Given the description of an element on the screen output the (x, y) to click on. 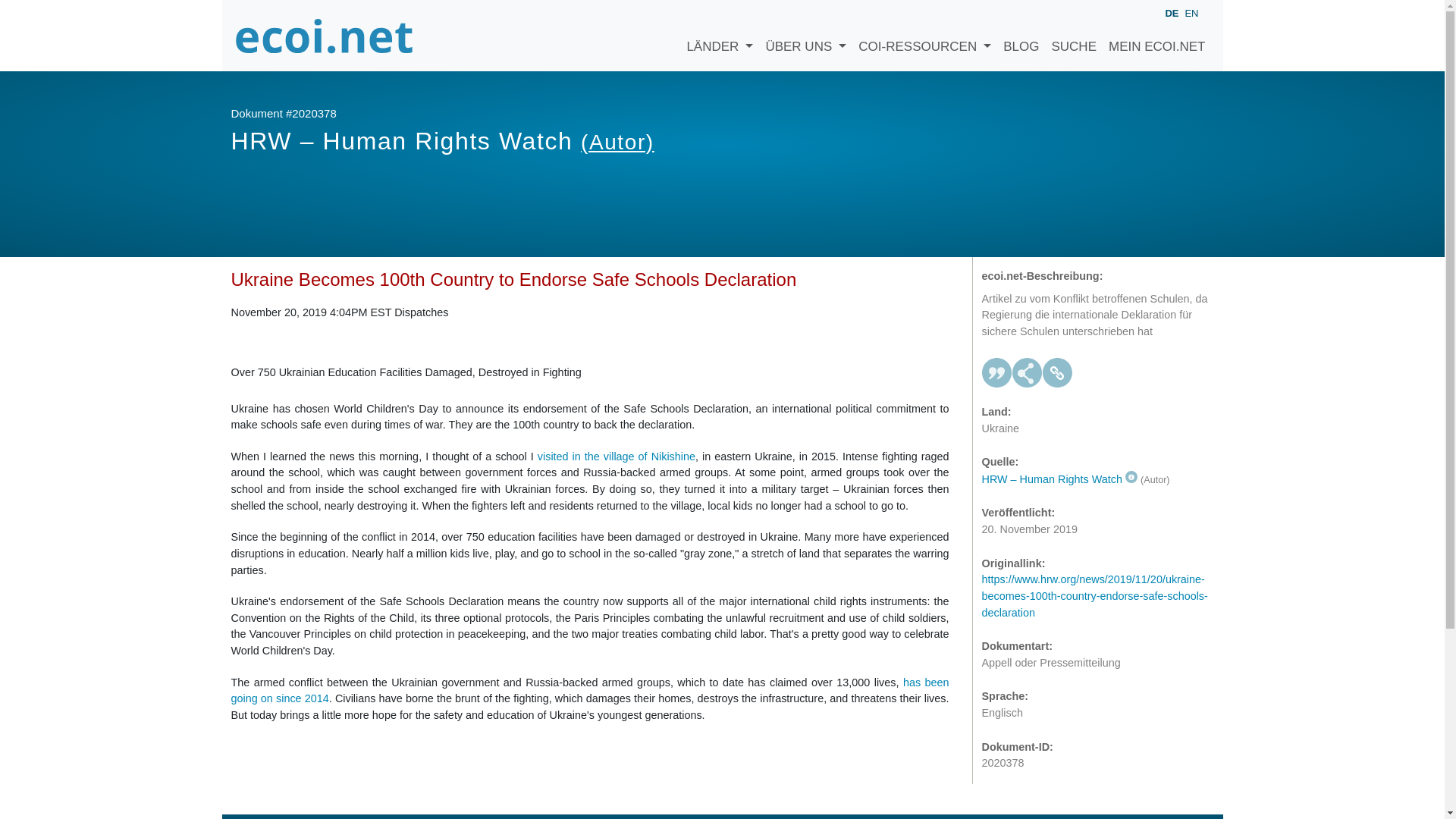
BLOG (1021, 35)
EN (1190, 12)
Teilen (1026, 372)
SUCHE (1073, 35)
Deutsch (1170, 13)
COI-RESSOURCEN (924, 35)
visited in the village of Nikishine (616, 456)
MEIN ECOI.NET (1156, 35)
Englisch (1190, 12)
Quellenbeschreibung lesen (1059, 479)
Zur Startseite von ecoi.net gehen (323, 35)
Permalink (1056, 372)
has been going on since 2014 (589, 690)
Zitieren als (996, 372)
